Given the description of an element on the screen output the (x, y) to click on. 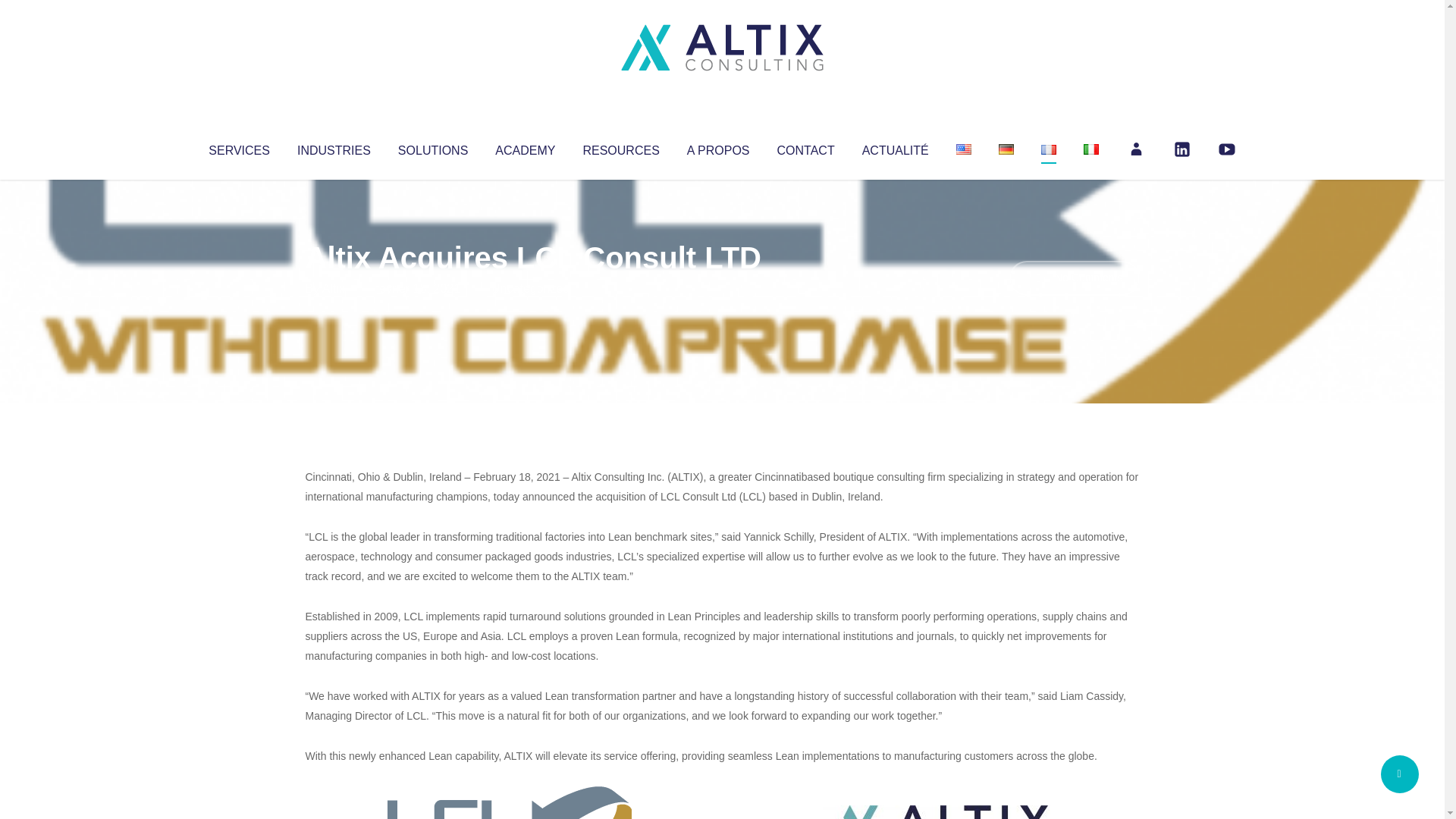
Altix (333, 287)
A PROPOS (718, 146)
No Comments (1073, 278)
ACADEMY (524, 146)
Articles par Altix (333, 287)
SOLUTIONS (432, 146)
Uncategorized (530, 287)
RESOURCES (620, 146)
INDUSTRIES (334, 146)
SERVICES (238, 146)
